Given the description of an element on the screen output the (x, y) to click on. 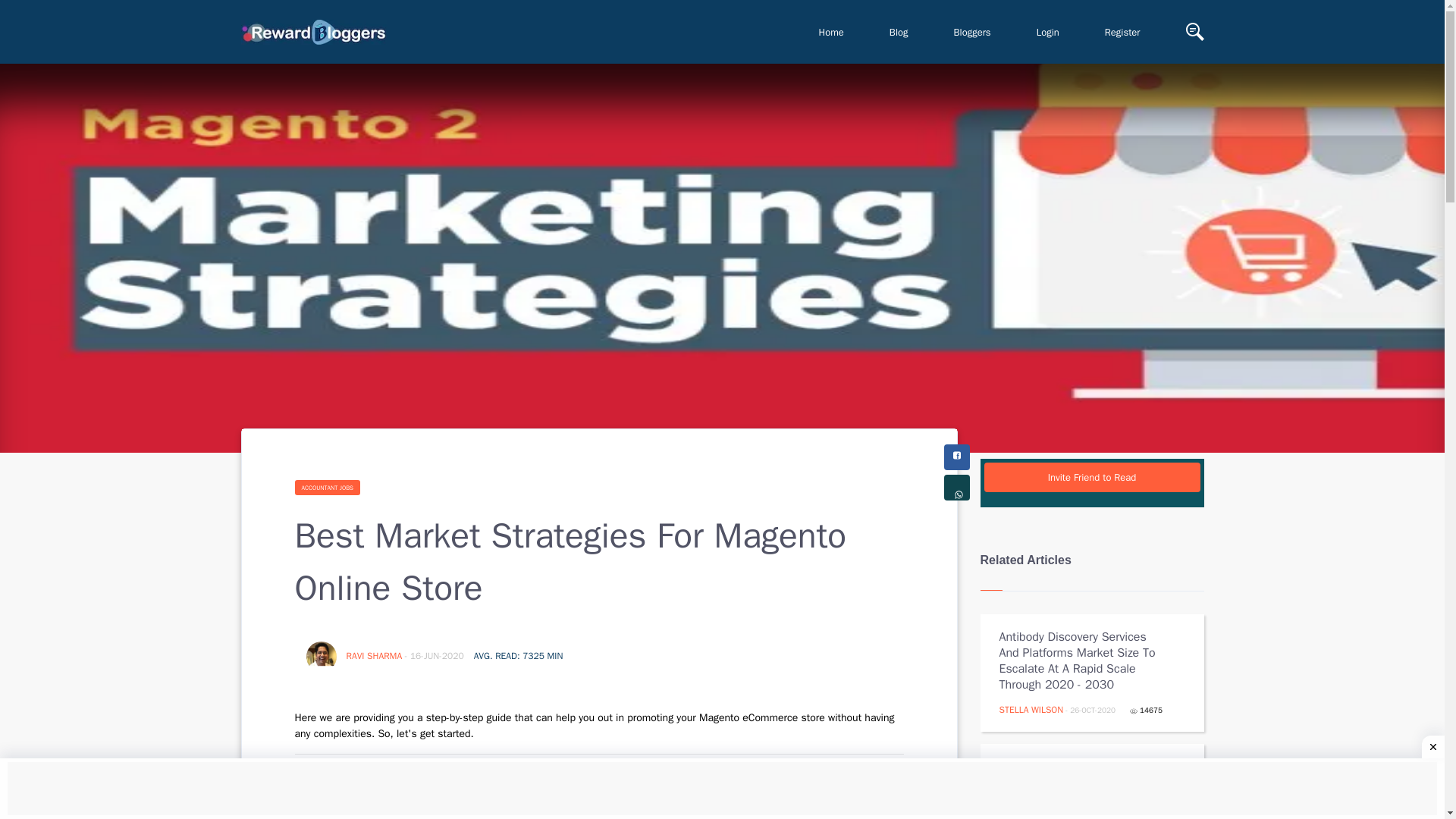
STELLA WILSON (1031, 709)
Invite Friend to Read (1091, 477)
Bloggers (972, 31)
RAVI SHARMA (375, 655)
Register (1122, 31)
Blog (898, 31)
Login (1047, 31)
ACCOUNTANT JOBS (326, 487)
